Given the description of an element on the screen output the (x, y) to click on. 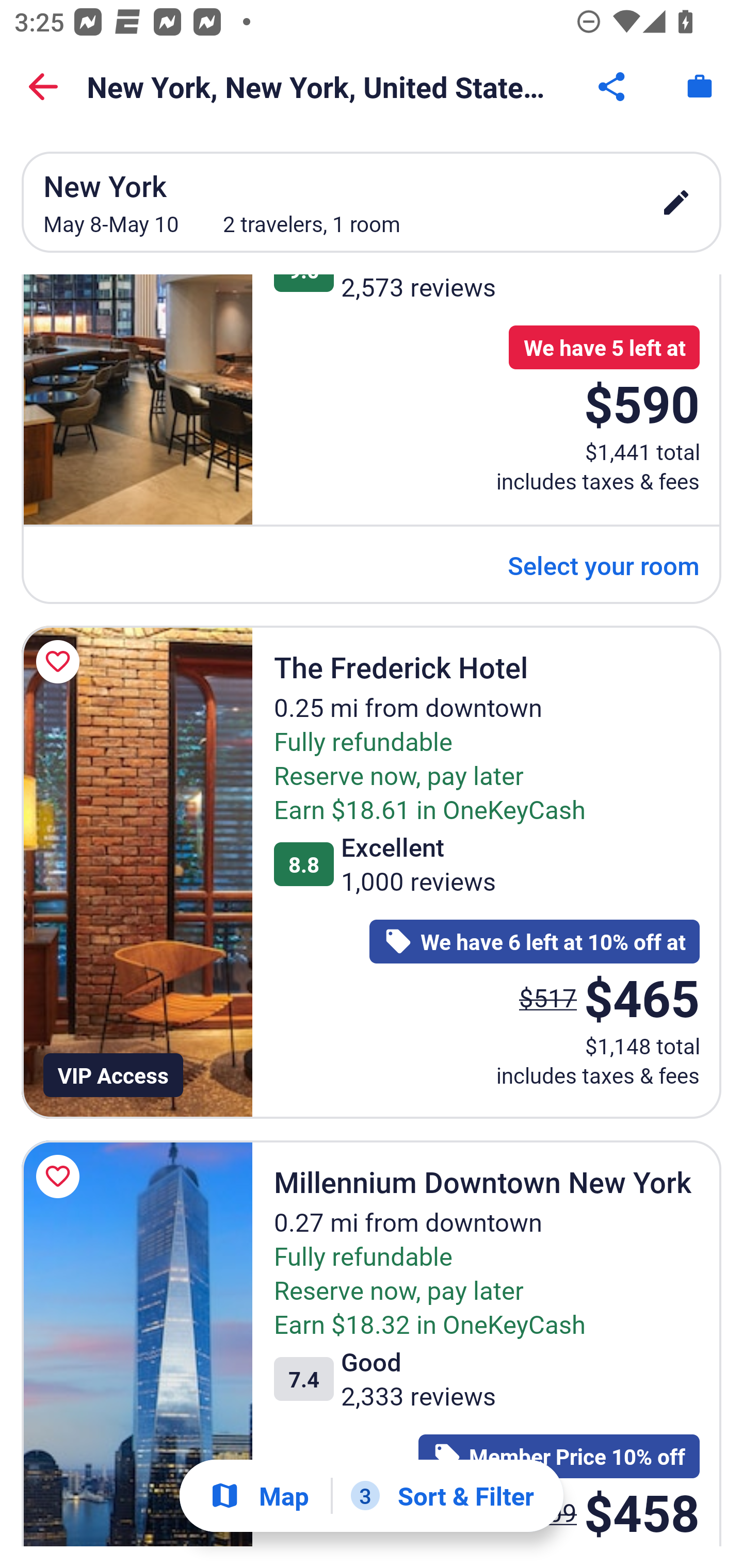
Back (43, 86)
Share Button (612, 86)
Trips. Button (699, 86)
New York May 8-May 10 2 travelers, 1 room edit (371, 202)
New York Marriott Marquis (136, 399)
Select your room Select your room Link (603, 565)
Save The Frederick Hotel to a trip (61, 661)
The Frederick Hotel (136, 871)
$517 The price was $517 (547, 997)
Save Millennium Downtown New York to a trip (61, 1176)
Millennium Downtown New York (136, 1342)
3 Sort & Filter 3 Filters applied. Filters Button (442, 1495)
Show map Map Show map Button (258, 1495)
